Given the description of an element on the screen output the (x, y) to click on. 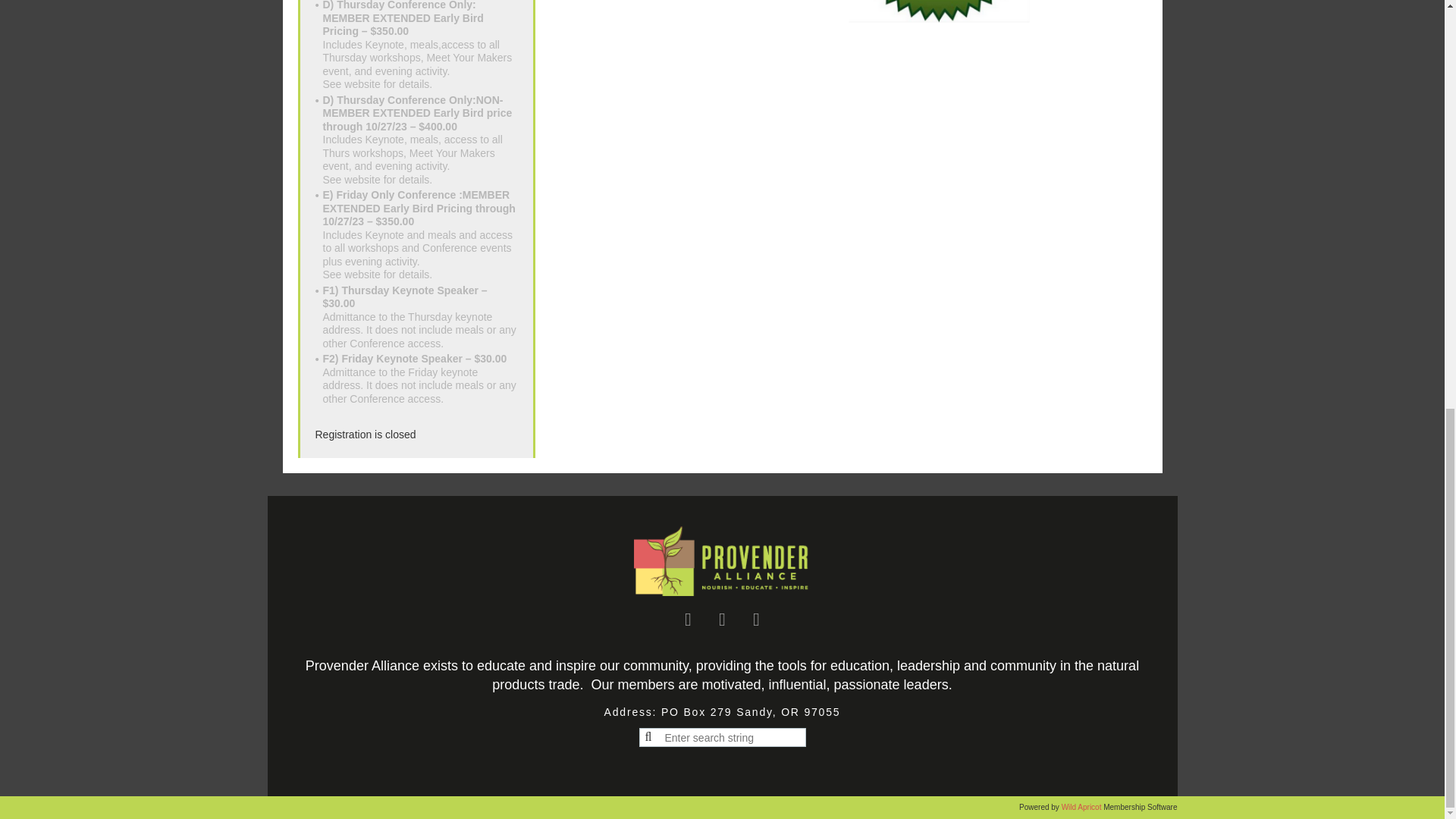
Wild Apricot (420, 45)
